Given the description of an element on the screen output the (x, y) to click on. 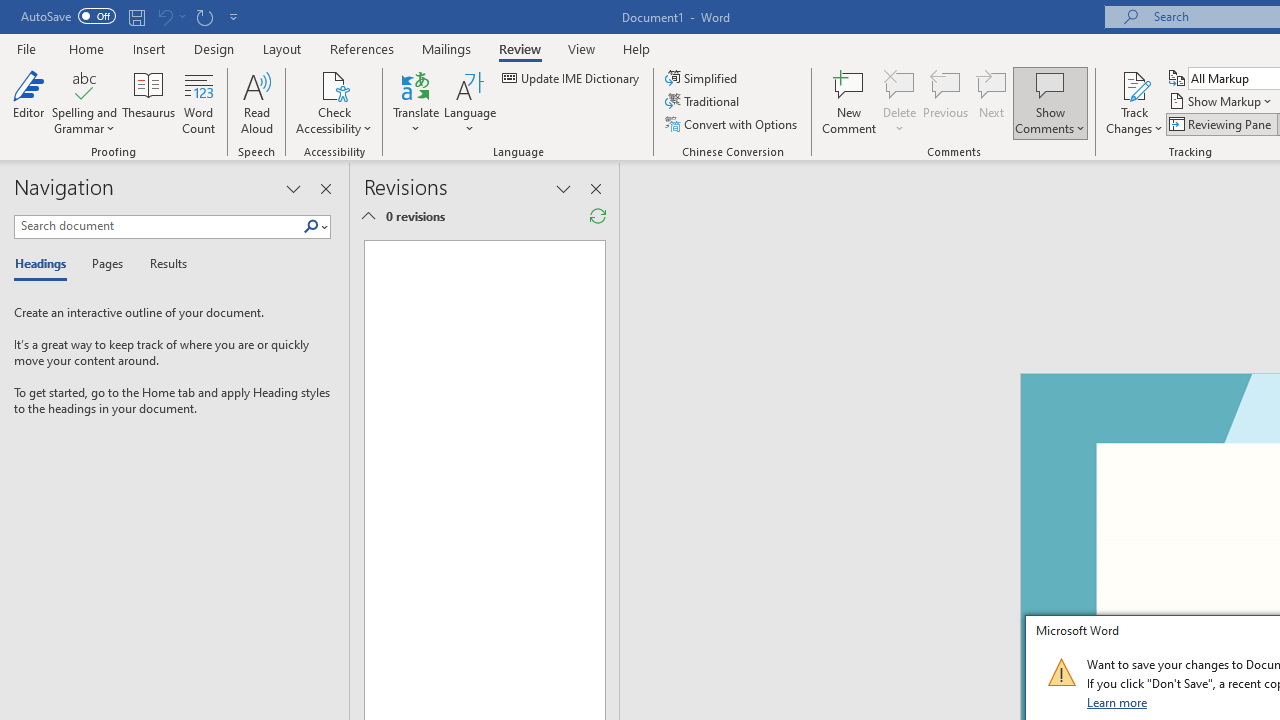
Show Comments (1050, 84)
Refresh Reviewing Pane (597, 215)
Delete (900, 84)
Show Markup (1222, 101)
Search document (157, 226)
Convert with Options... (732, 124)
Translate (415, 102)
Repeat Doc Close (204, 15)
Next (991, 102)
